Given the description of an element on the screen output the (x, y) to click on. 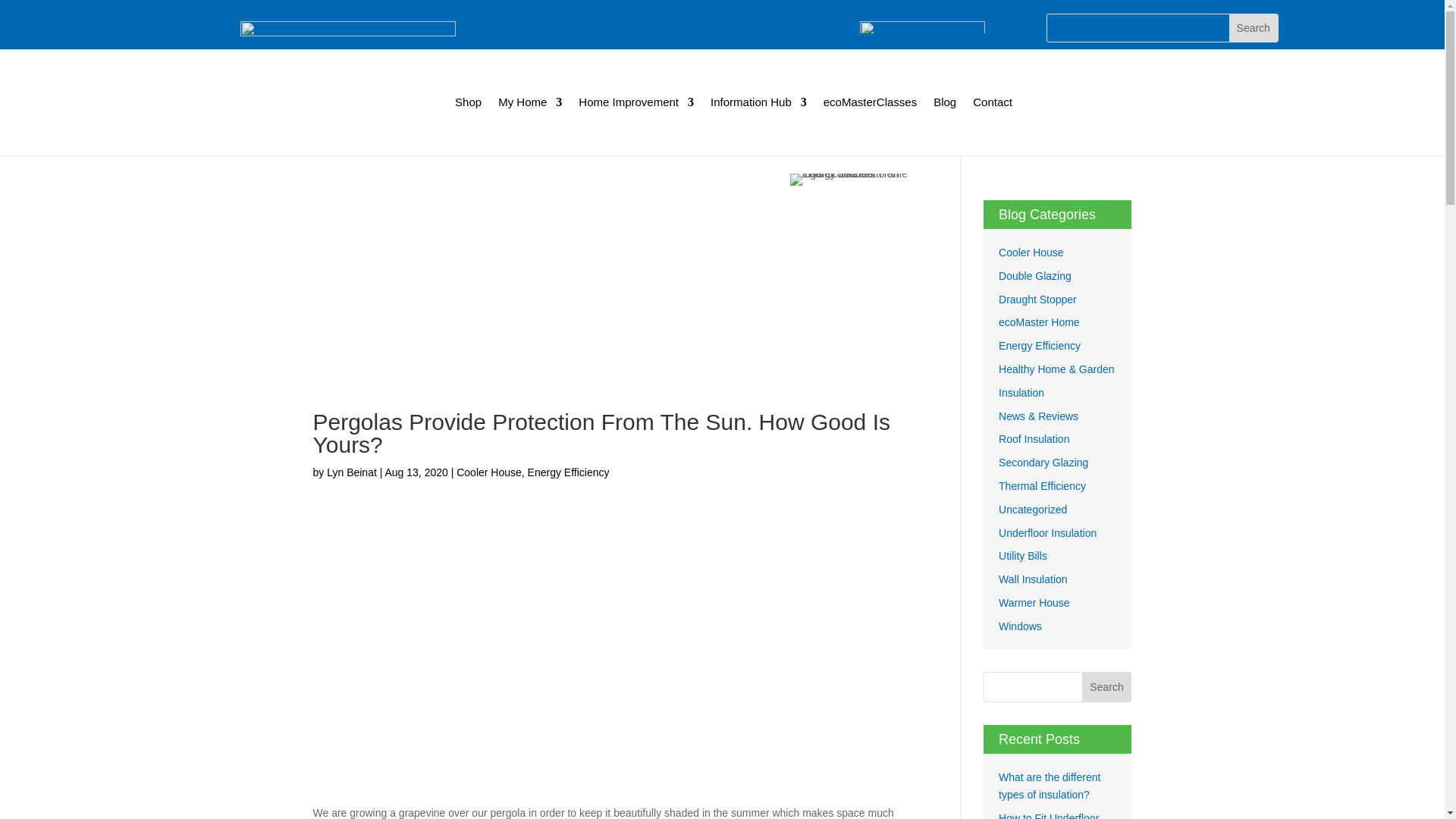
Search (1106, 686)
Roof Insulation (1033, 439)
Search (1253, 27)
Posts by Lyn Beinat (351, 472)
Home Improvement (636, 102)
Cooler House (489, 472)
ecoMasterClasses (870, 102)
Lyn Beinat (351, 472)
ecomasterstore-shop-now-min (922, 27)
More-Comfort---Less-Energy---ecoMaster---Shop-Now-min (347, 30)
Information Hub (758, 102)
Draught Stopper (1037, 299)
Search (1253, 27)
My Home (529, 102)
